Given the description of an element on the screen output the (x, y) to click on. 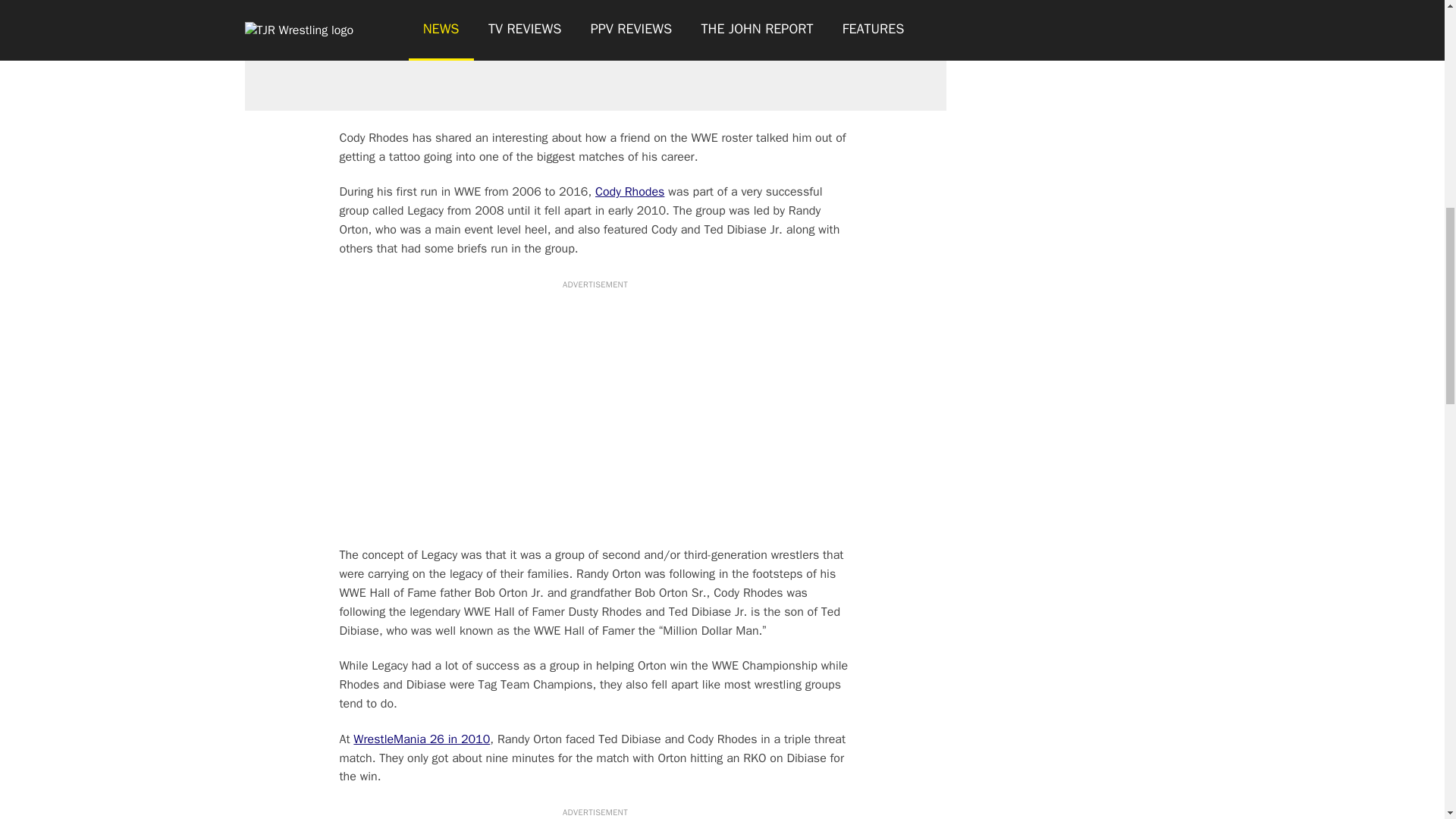
WrestleMania 26 in 2010 (421, 739)
Cody Rhodes (629, 191)
